Given the description of an element on the screen output the (x, y) to click on. 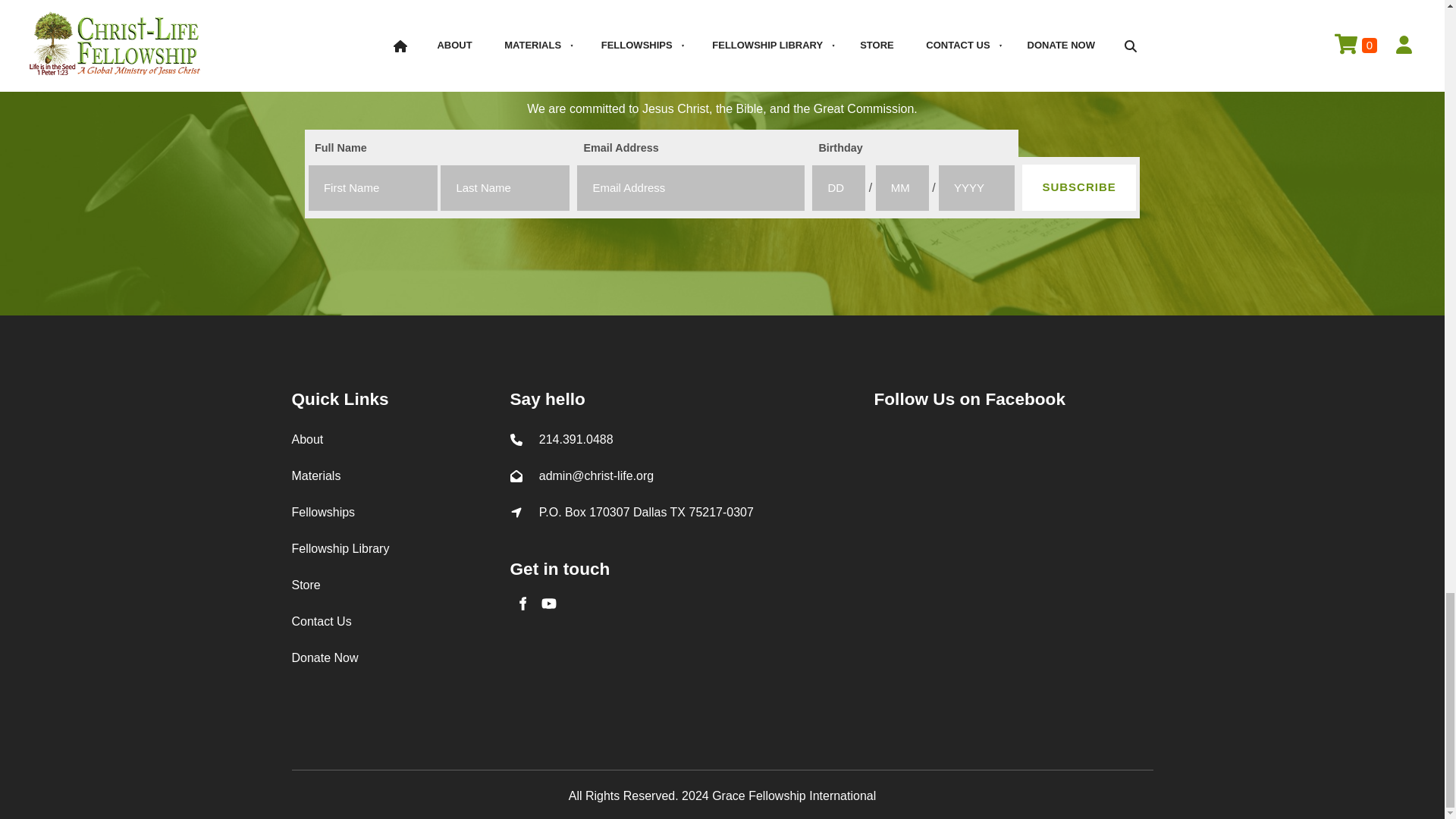
Youtube (549, 603)
Fellowship Library (339, 548)
Contact Us (320, 621)
About (307, 439)
Donate Now (324, 657)
Store (305, 584)
SUBSCRIBE (1078, 187)
Materials (315, 475)
Fellowships (323, 512)
214.391.0488 (575, 439)
Facebook (521, 603)
Subscribe Our Newsletter and Keep (721, 23)
